Given the description of an element on the screen output the (x, y) to click on. 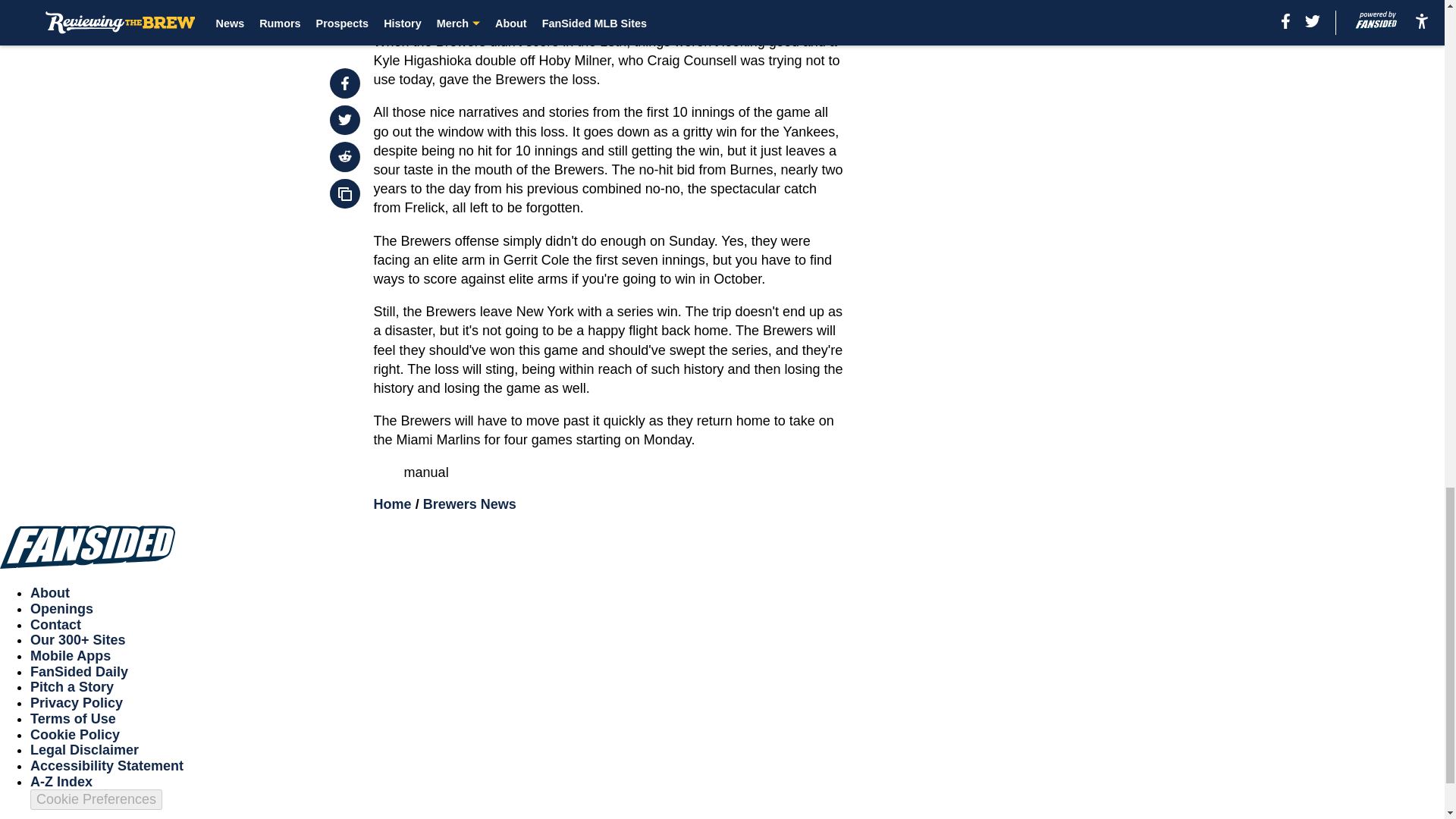
About (49, 592)
Home (393, 503)
Brewers News (469, 503)
Openings (61, 608)
